Given the description of an element on the screen output the (x, y) to click on. 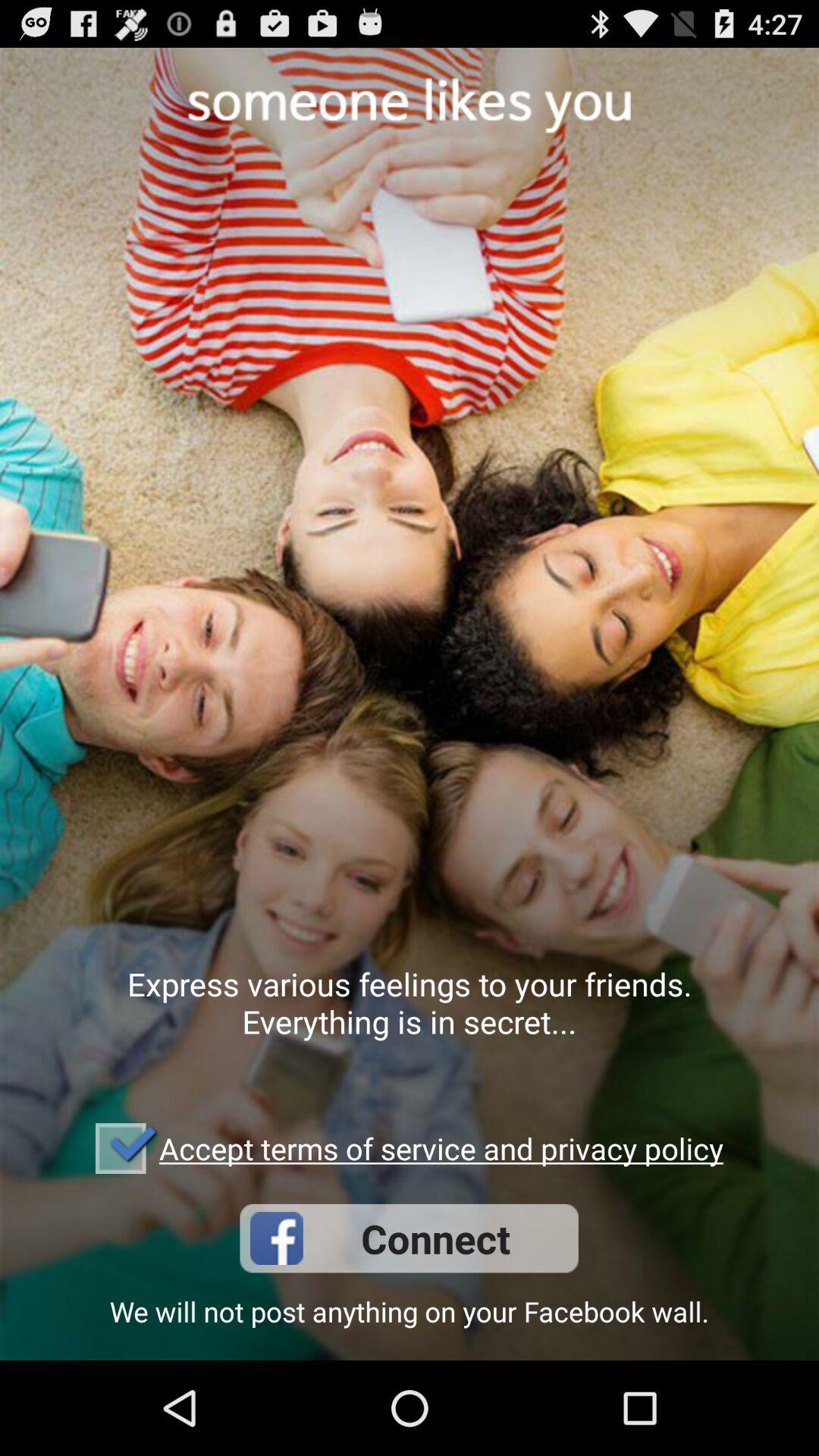
flip until connect (409, 1238)
